Given the description of an element on the screen output the (x, y) to click on. 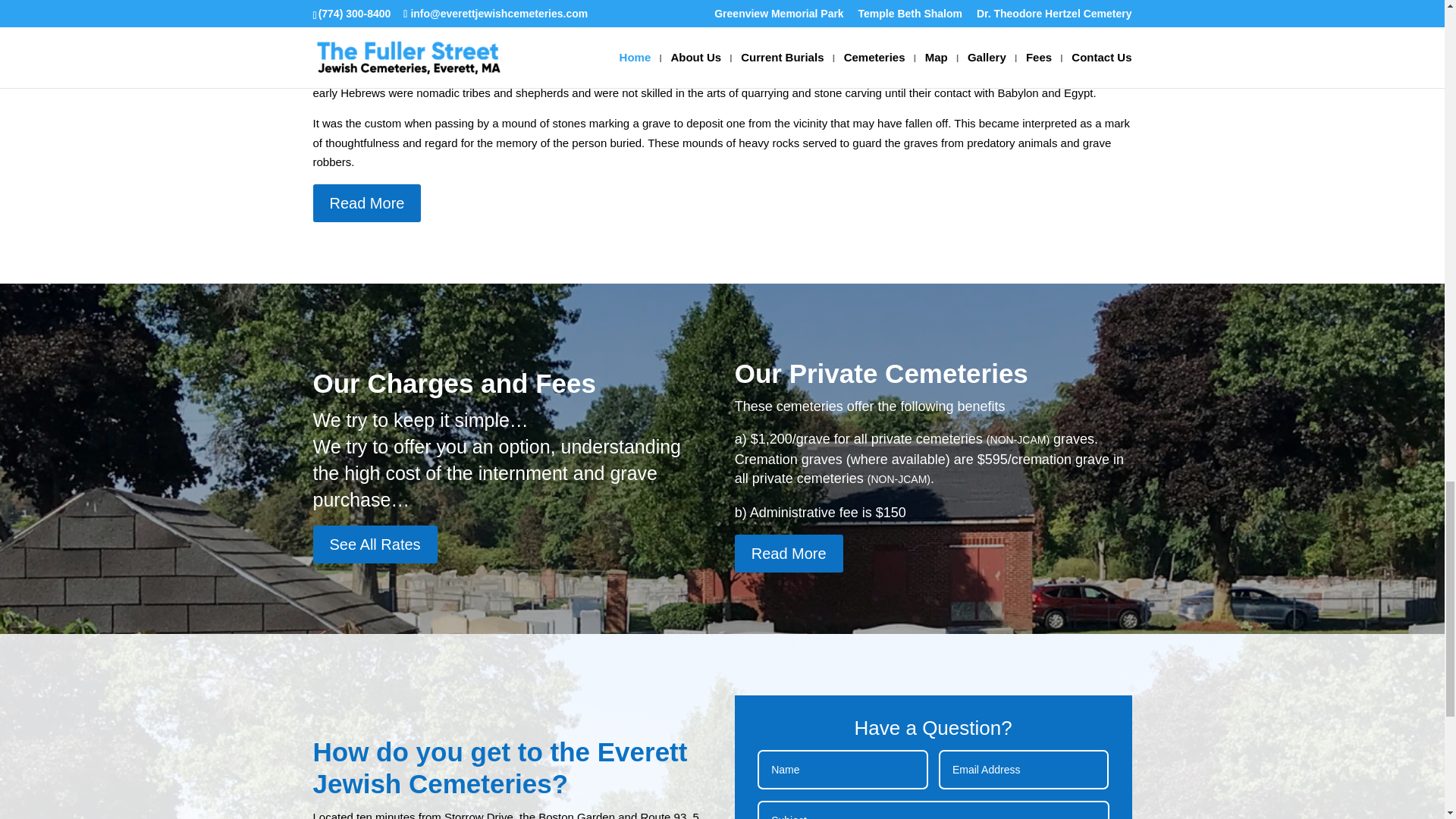
Read More (789, 553)
See All Rates (374, 544)
Read More (366, 202)
